Given the description of an element on the screen output the (x, y) to click on. 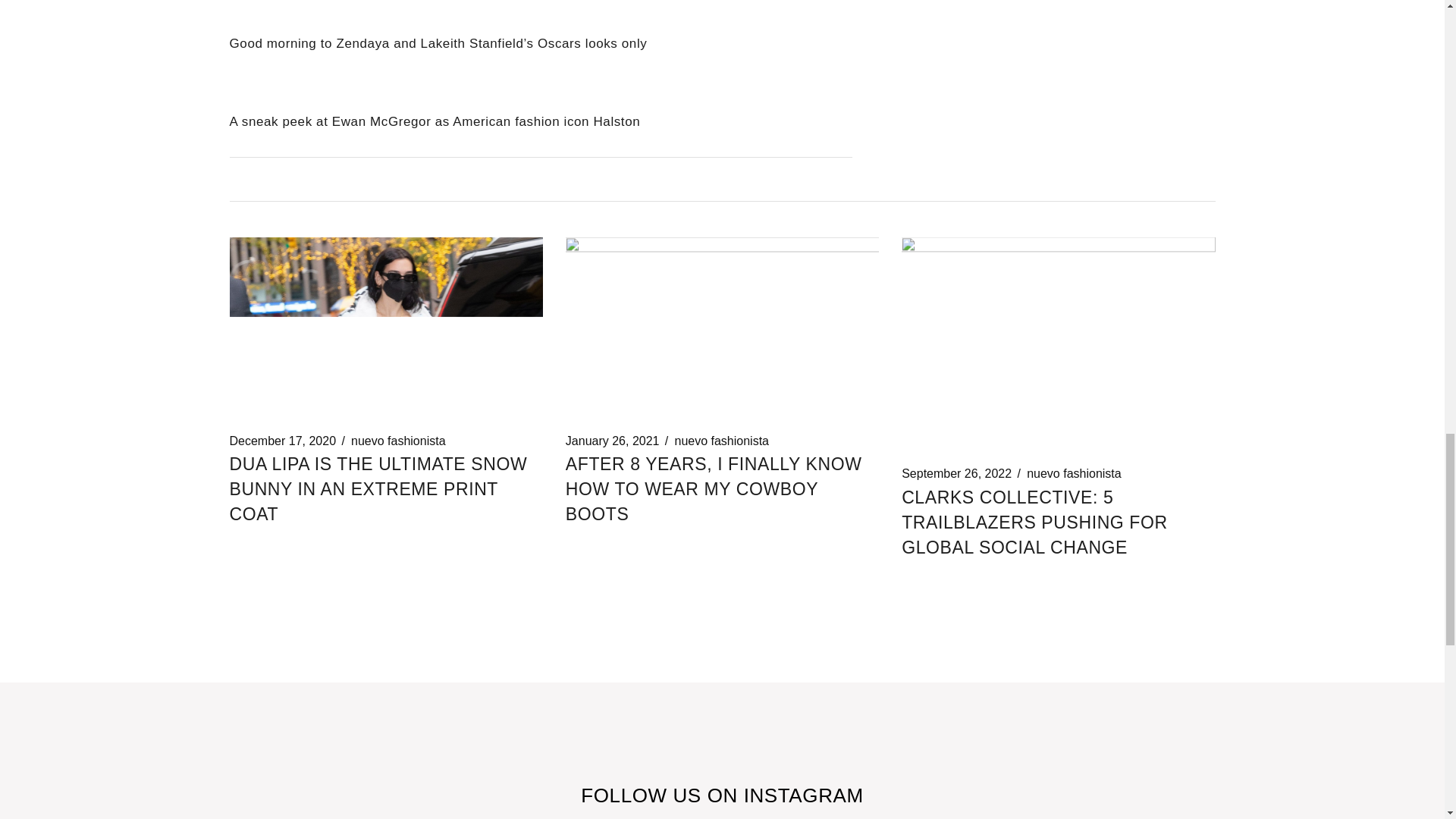
nuevo fashionista (721, 441)
September 26, 2022 (956, 473)
nuevo fashionista (397, 441)
December 17, 2020 (282, 441)
nuevo fashionista (1073, 473)
January 26, 2021 (612, 441)
AFTER 8 YEARS, I FINALLY KNOW HOW TO WEAR MY COWBOY BOOTS (713, 489)
FOLLOW US ON  (661, 794)
